Given the description of an element on the screen output the (x, y) to click on. 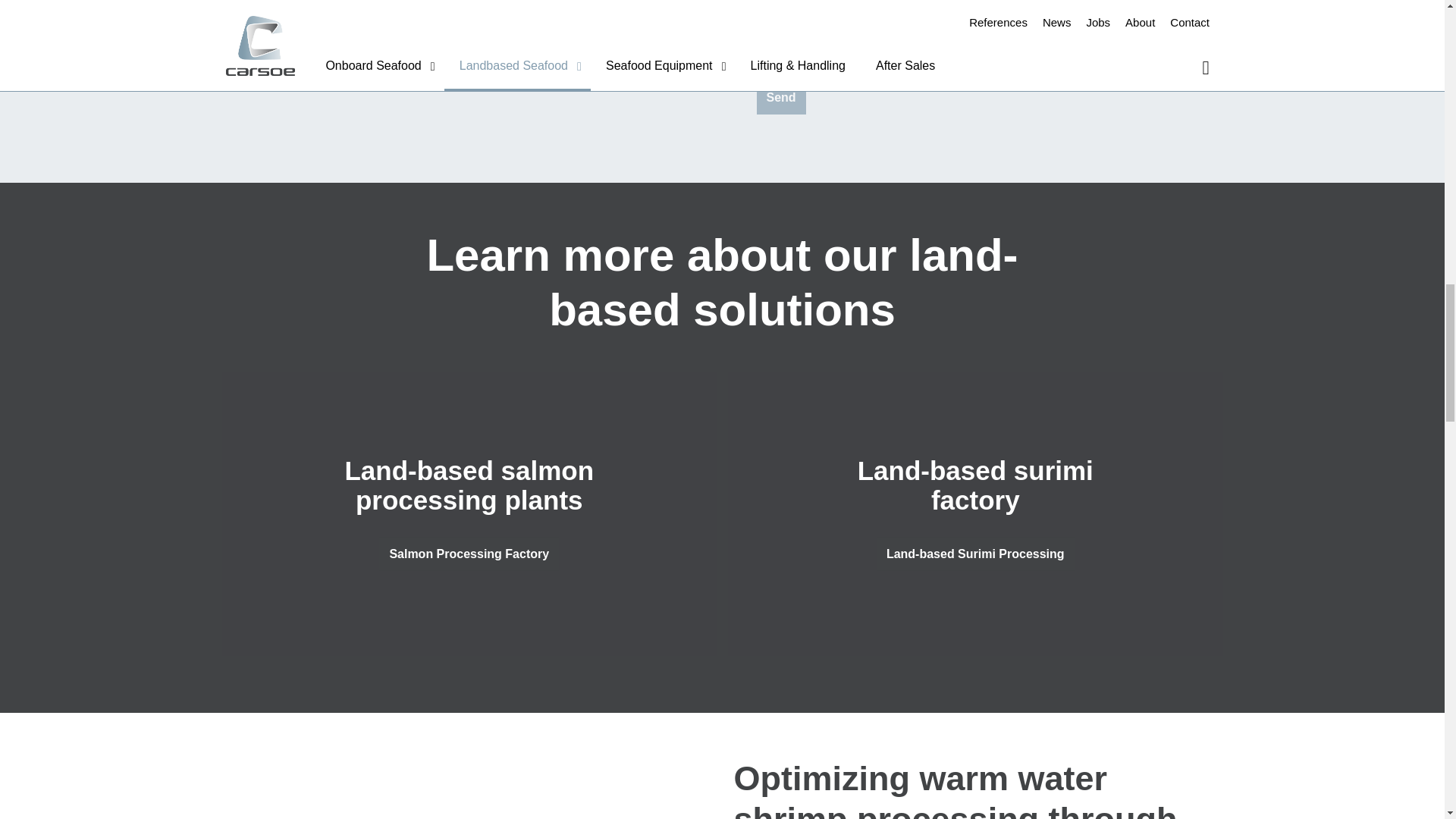
Send (781, 97)
